Given the description of an element on the screen output the (x, y) to click on. 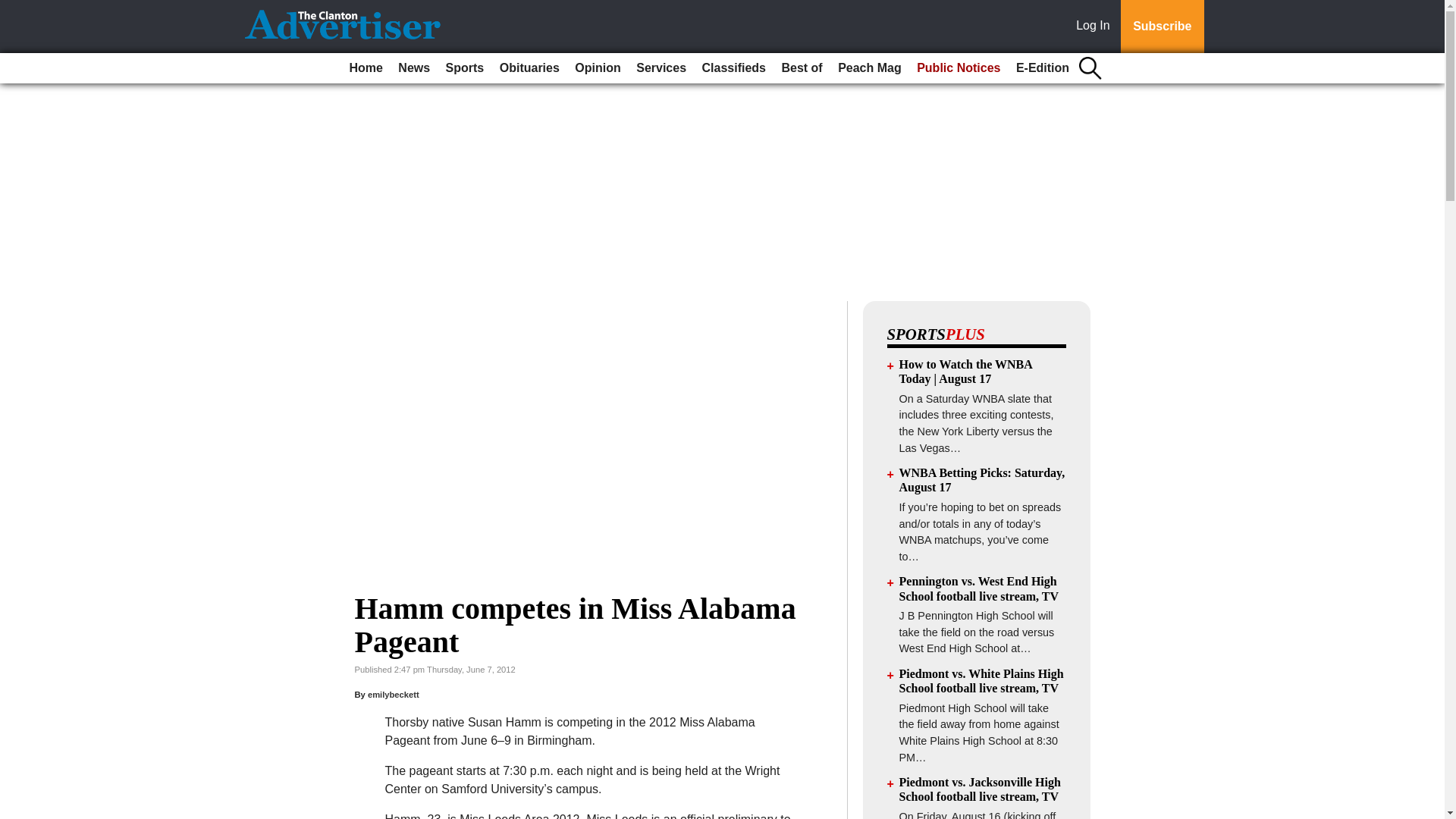
emilybeckett (393, 694)
Pennington vs. West End High School football live stream, TV (979, 587)
News (413, 68)
Peach Mag (869, 68)
WNBA Betting Picks: Saturday, August 17 (982, 479)
E-Edition (1042, 68)
Classifieds (733, 68)
Public Notices (958, 68)
Obituaries (529, 68)
Log In (1095, 26)
